Given the description of an element on the screen output the (x, y) to click on. 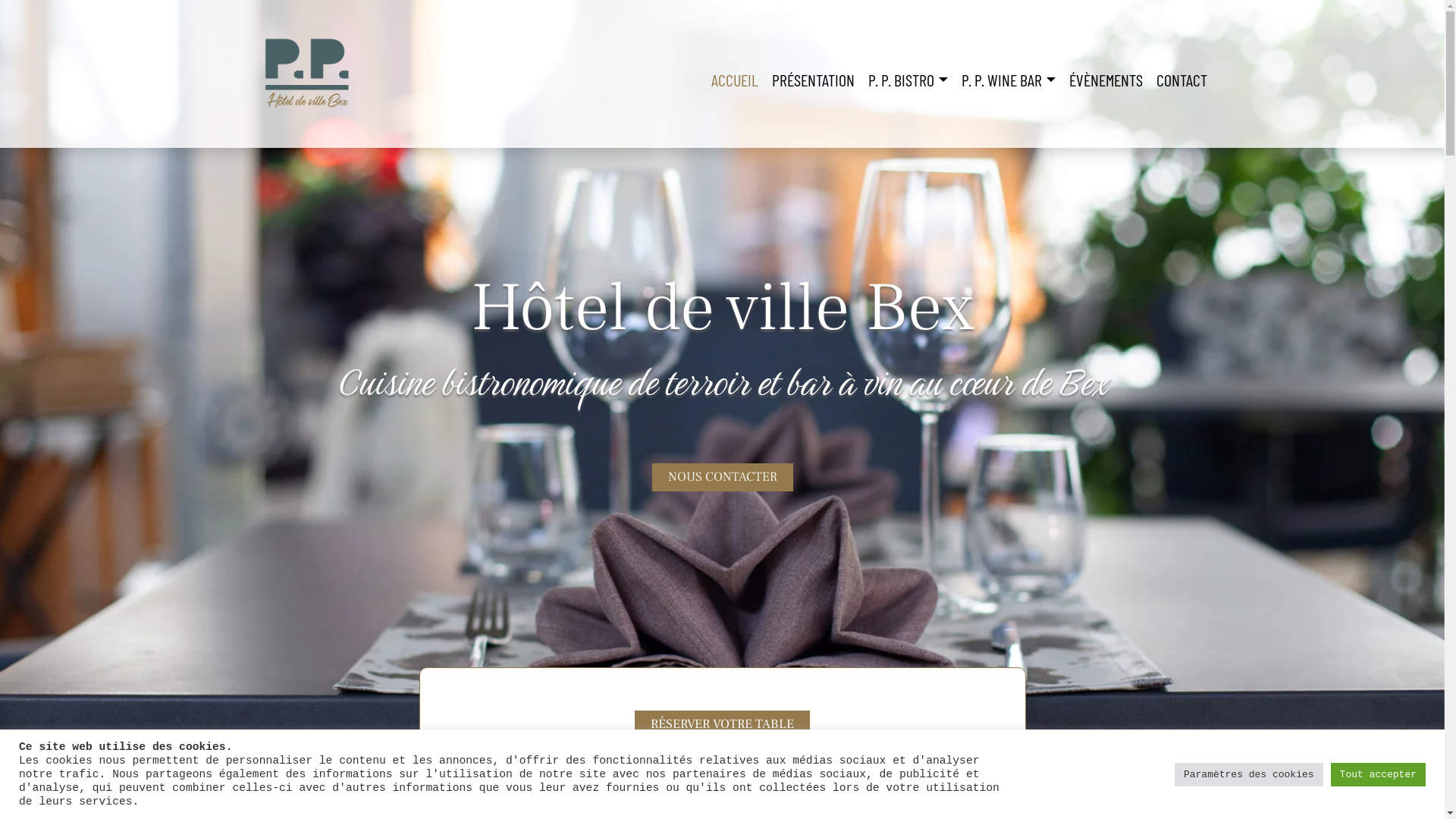
P. P. BISTRO Element type: text (907, 79)
Tout accepter Element type: text (1377, 774)
P. P. WINE BAR Element type: text (1008, 79)
CONTACT Element type: text (1180, 79)
ACCUEIL Element type: text (734, 79)
